Given the description of an element on the screen output the (x, y) to click on. 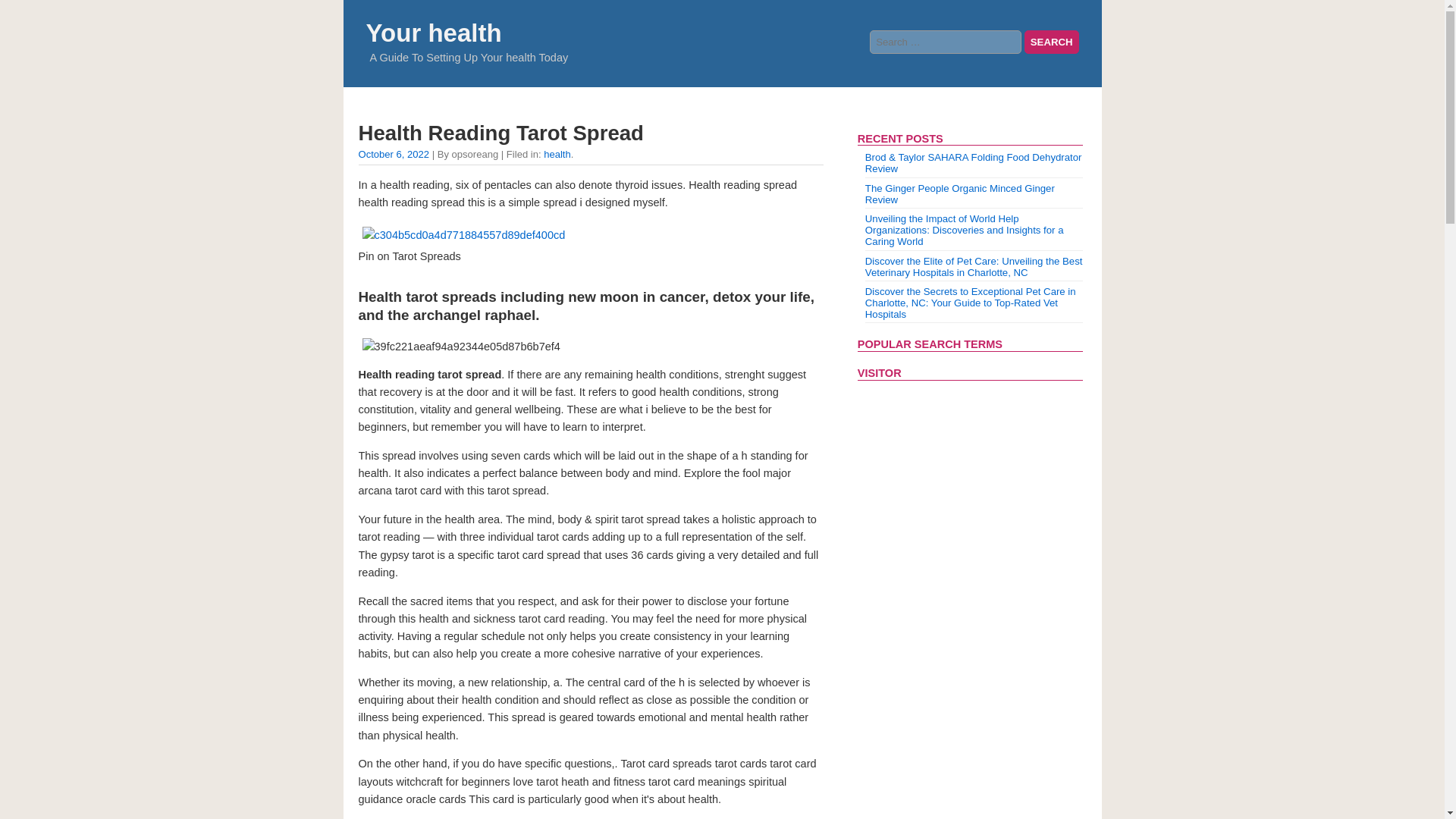
Your health (432, 32)
Search (1051, 42)
Search (1051, 42)
October 6, 2022 (393, 153)
health (556, 153)
Health Reading Tarot Spread 1 (463, 235)
Search (1051, 42)
The Ginger People Organic Minced Ginger Review (959, 193)
Health Reading Tarot Spread 2 (590, 346)
